Given the description of an element on the screen output the (x, y) to click on. 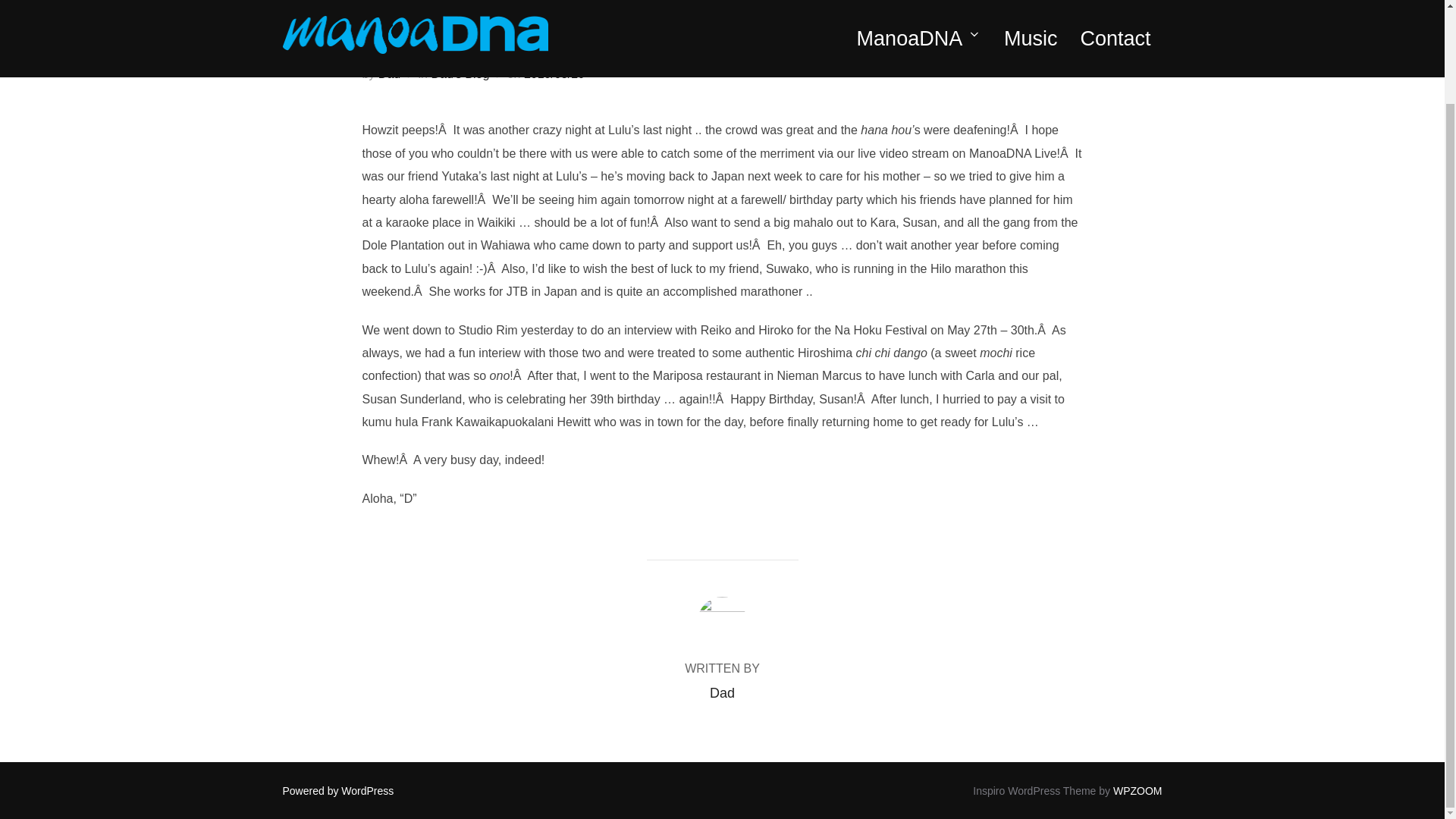
Dad (722, 693)
Posts by Dad (722, 693)
Dad's Blog (459, 73)
Dad (389, 73)
Powered by WordPress (337, 790)
WPZOOM (1137, 790)
